Given the description of an element on the screen output the (x, y) to click on. 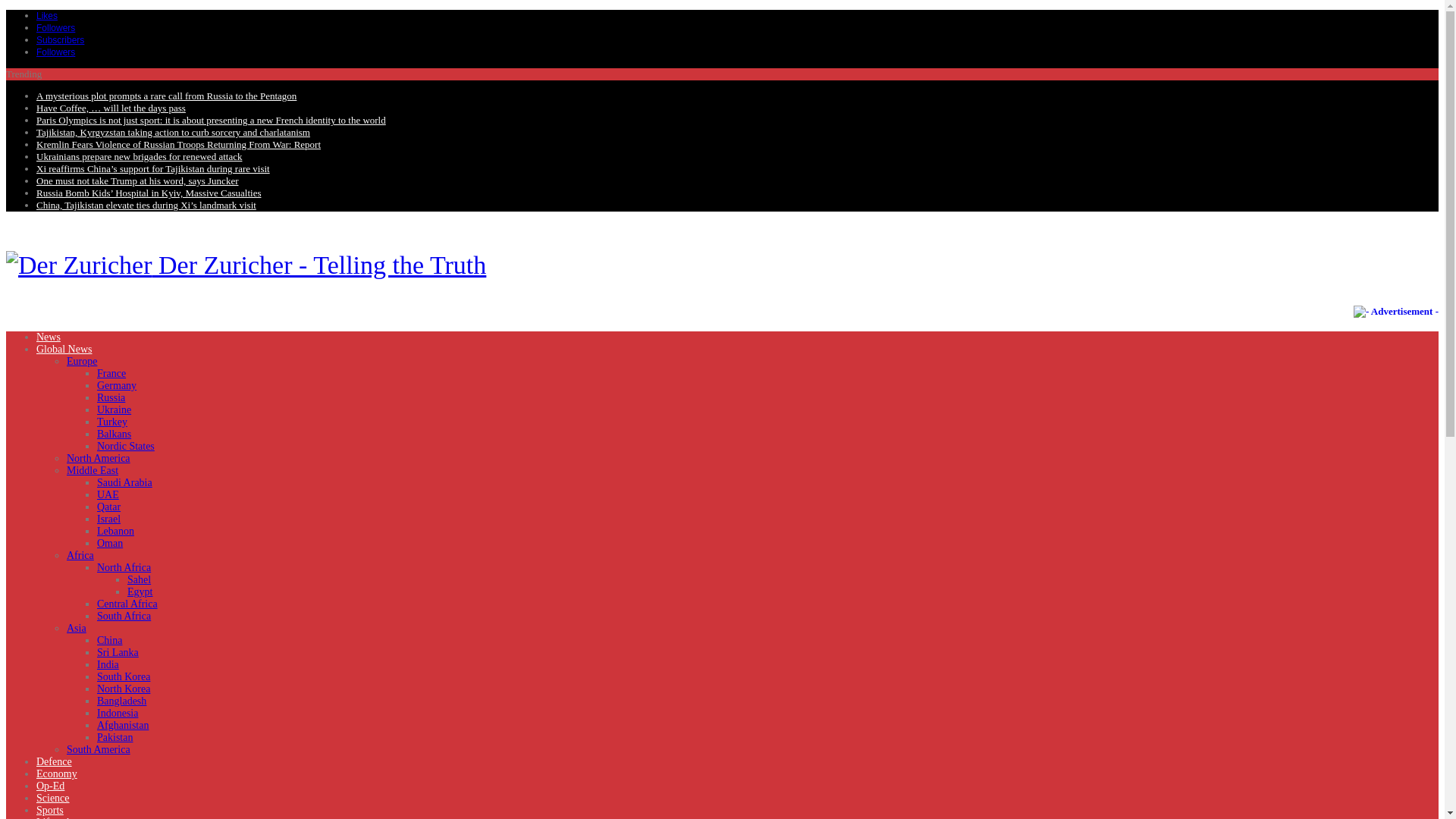
Der Zuricher - Telling the Truth (245, 264)
Israel (108, 518)
One must not take Trump at his word, says Juncker (137, 180)
Nordic States (125, 446)
Followers (55, 27)
Oman (109, 542)
Followers (55, 51)
